Given the description of an element on the screen output the (x, y) to click on. 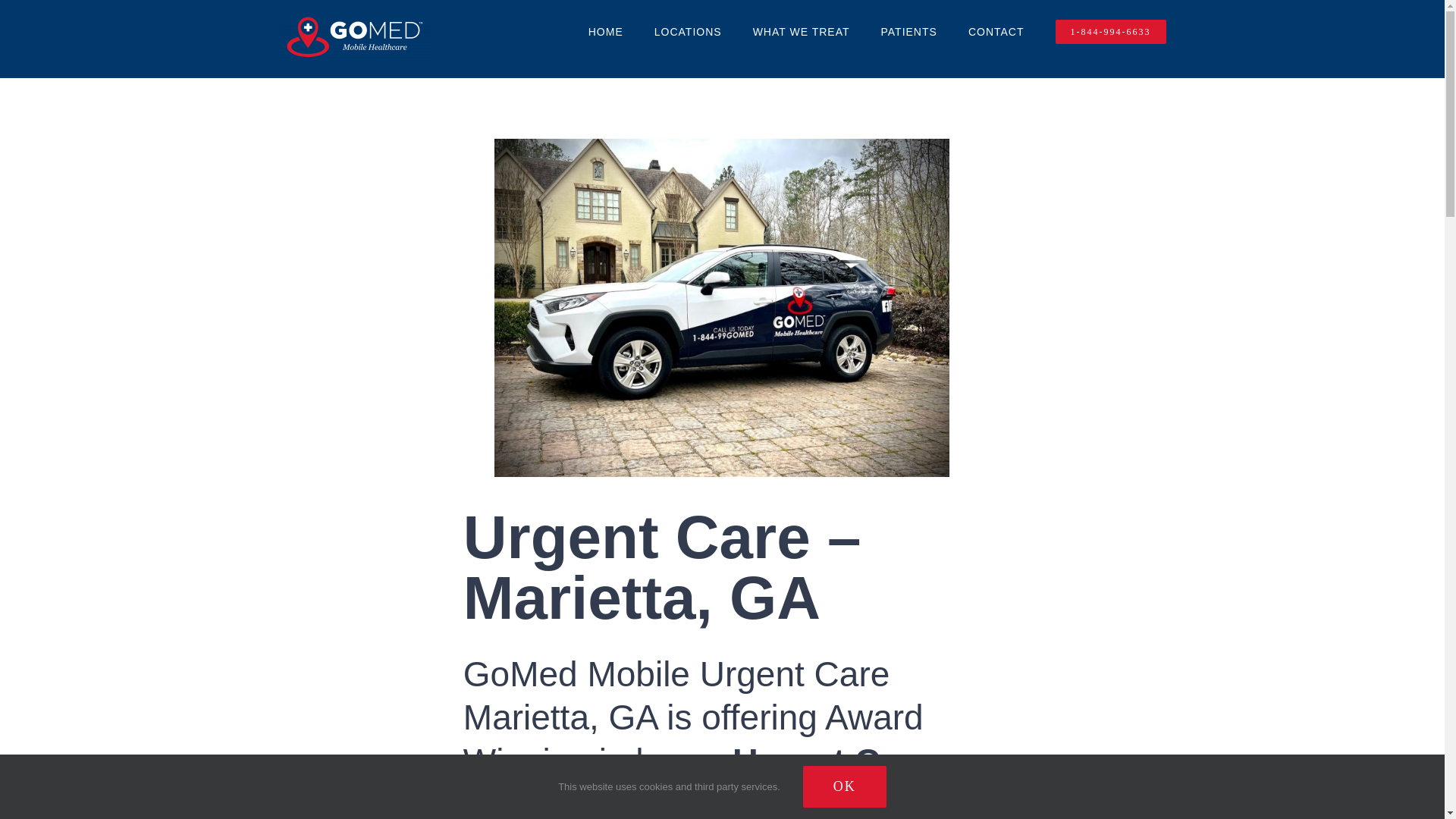
WHAT WE TREAT (801, 31)
LOCATIONS (687, 31)
1-844-994-6633 (1110, 31)
